Given the description of an element on the screen output the (x, y) to click on. 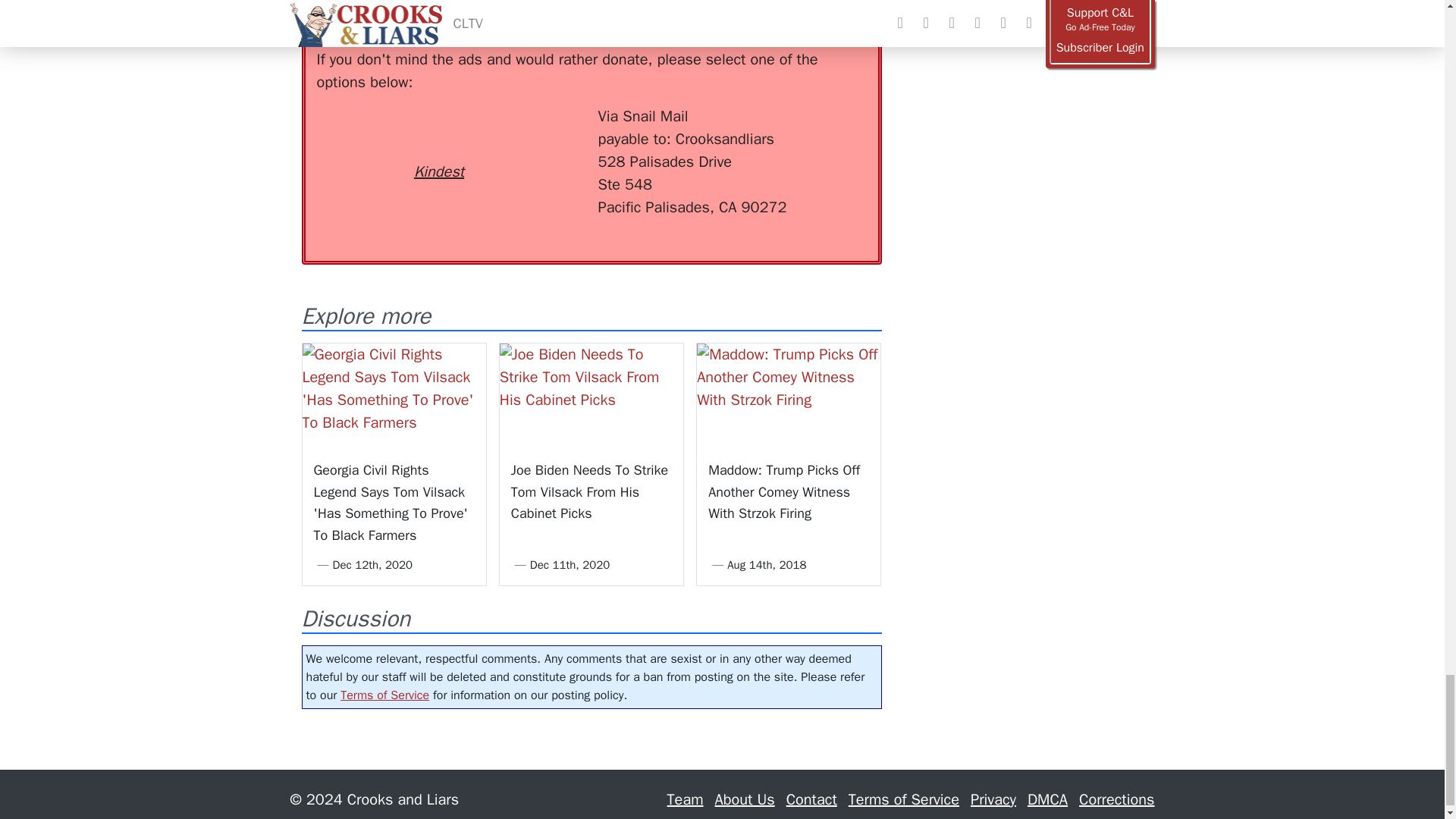
Donate via PayPal (540, 132)
Donate via Kindest (438, 144)
